Given the description of an element on the screen output the (x, y) to click on. 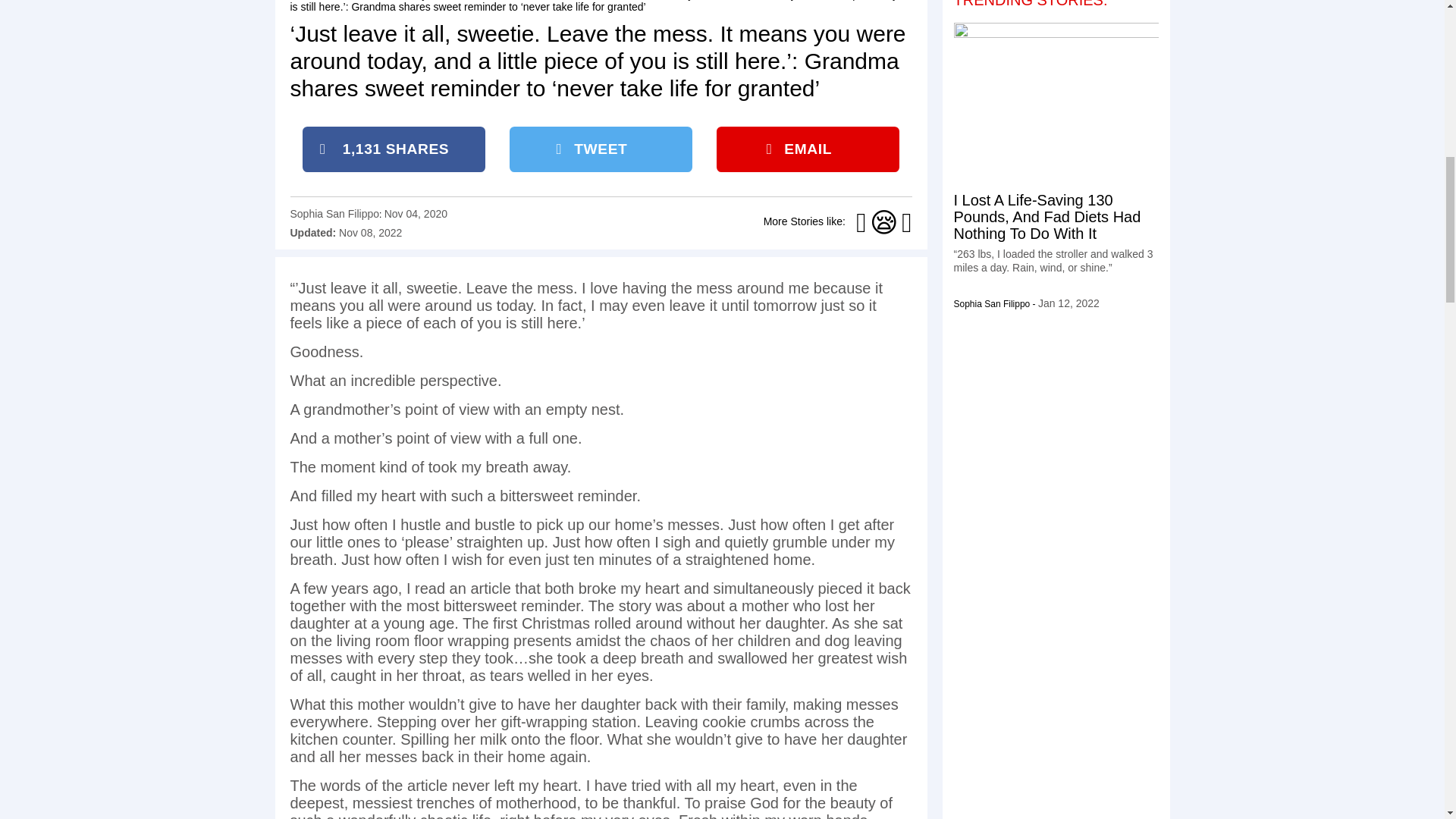
January 12, 2022 (1068, 303)
November 8, 2022 (370, 232)
November 4, 2020 (415, 214)
